Given the description of an element on the screen output the (x, y) to click on. 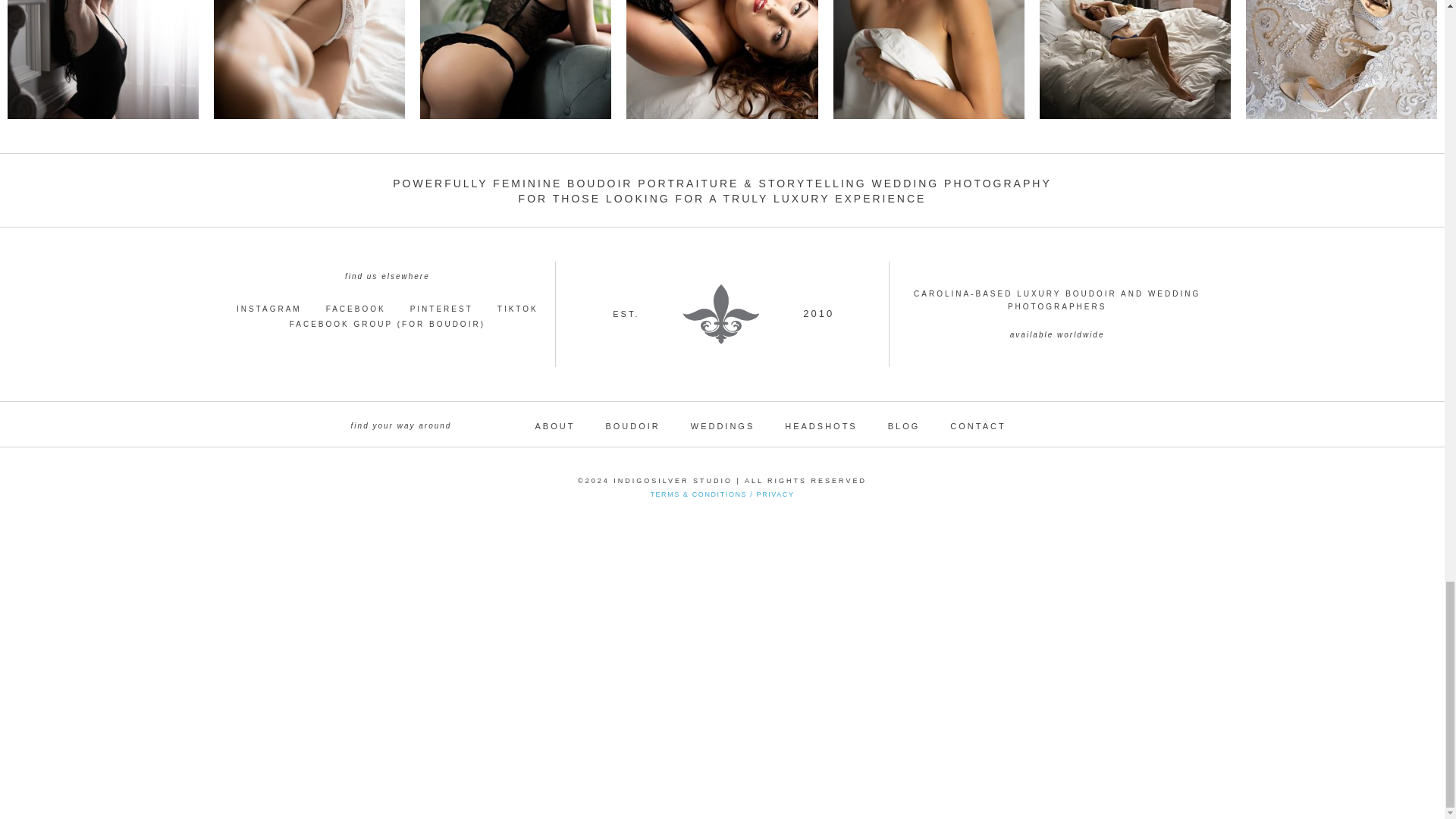
wilmington-boudoir-pictures-022 (515, 59)
wilmington-north-carolina-boudoir-photographer-034.jpg (309, 59)
wilmington-north-carolina-boudoir-photographer-035 (721, 59)
north-carolina-implied-boudoir-photography-004 (927, 59)
wilmington-north-carolina-boudoir-photographer-10 (102, 59)
wilmington-north-carolina-boudoir-photographer-012 (1134, 59)
